Given the description of an element on the screen output the (x, y) to click on. 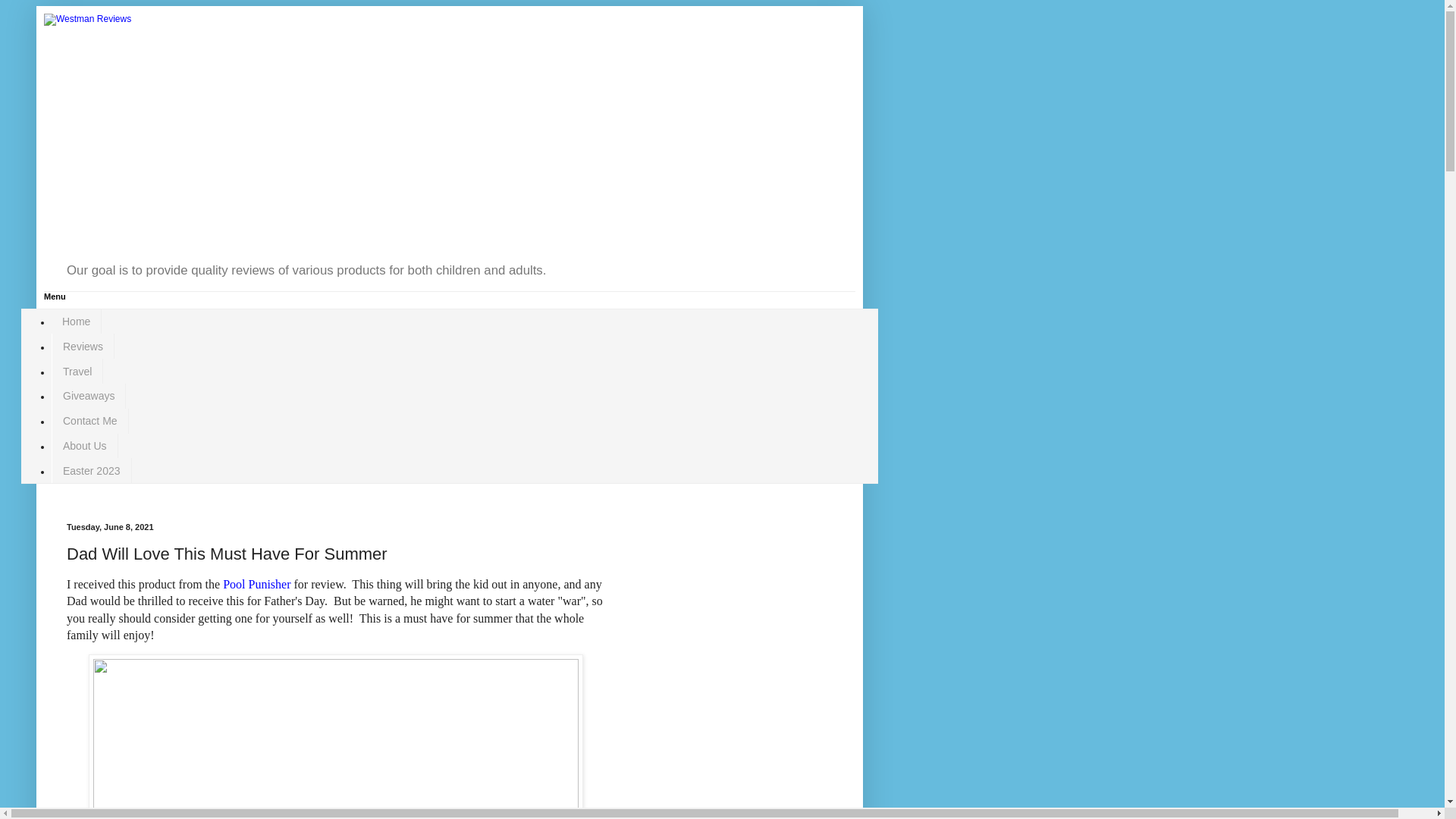
Reviews (82, 345)
Giveaways (87, 396)
Travel (76, 371)
Contact Me (89, 421)
Pool Punisher (255, 584)
Easter 2023 (91, 470)
Home (75, 321)
About Us (83, 446)
